Given the description of an element on the screen output the (x, y) to click on. 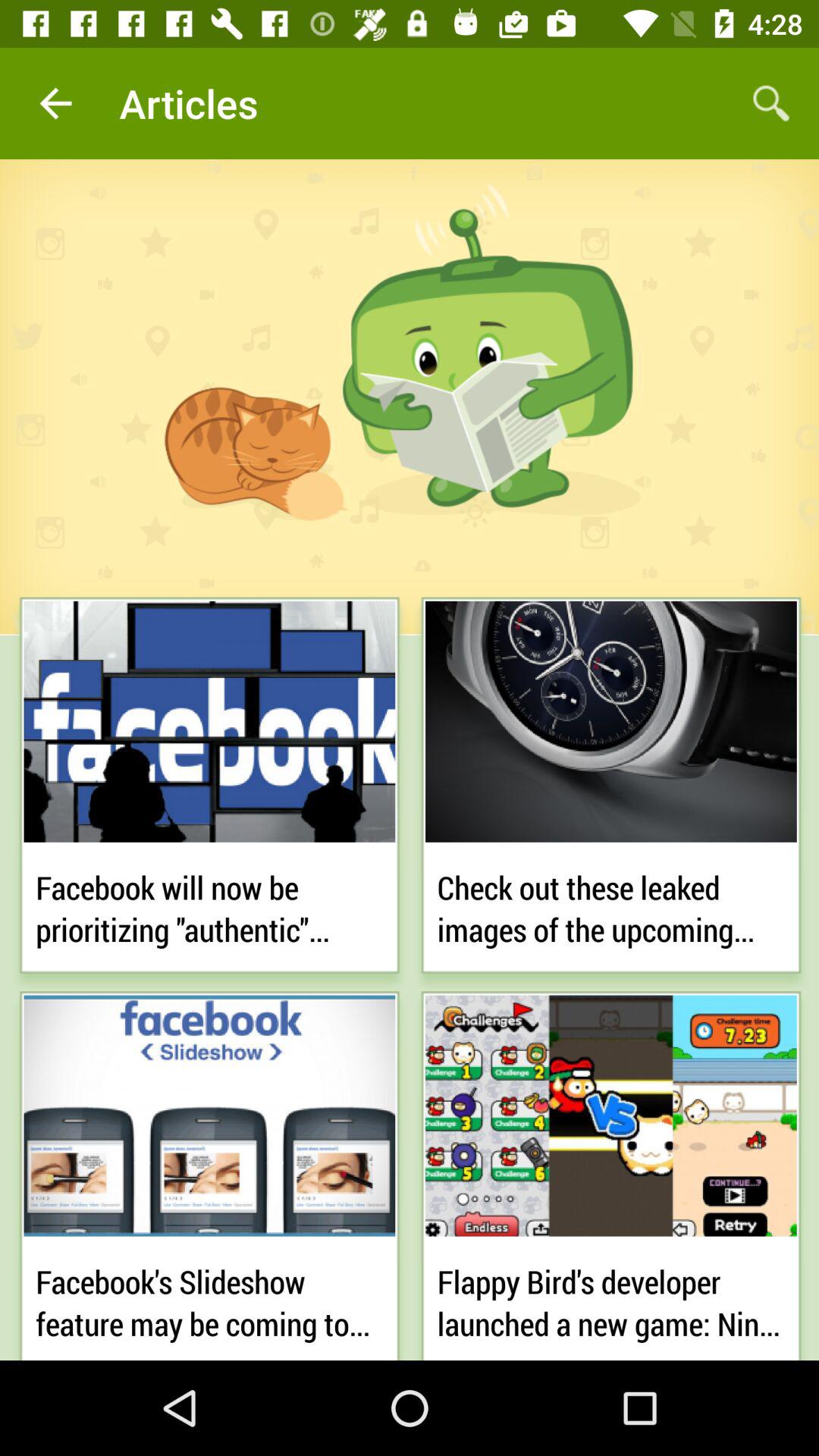
open the item to the right of the articles app (771, 103)
